Given the description of an element on the screen output the (x, y) to click on. 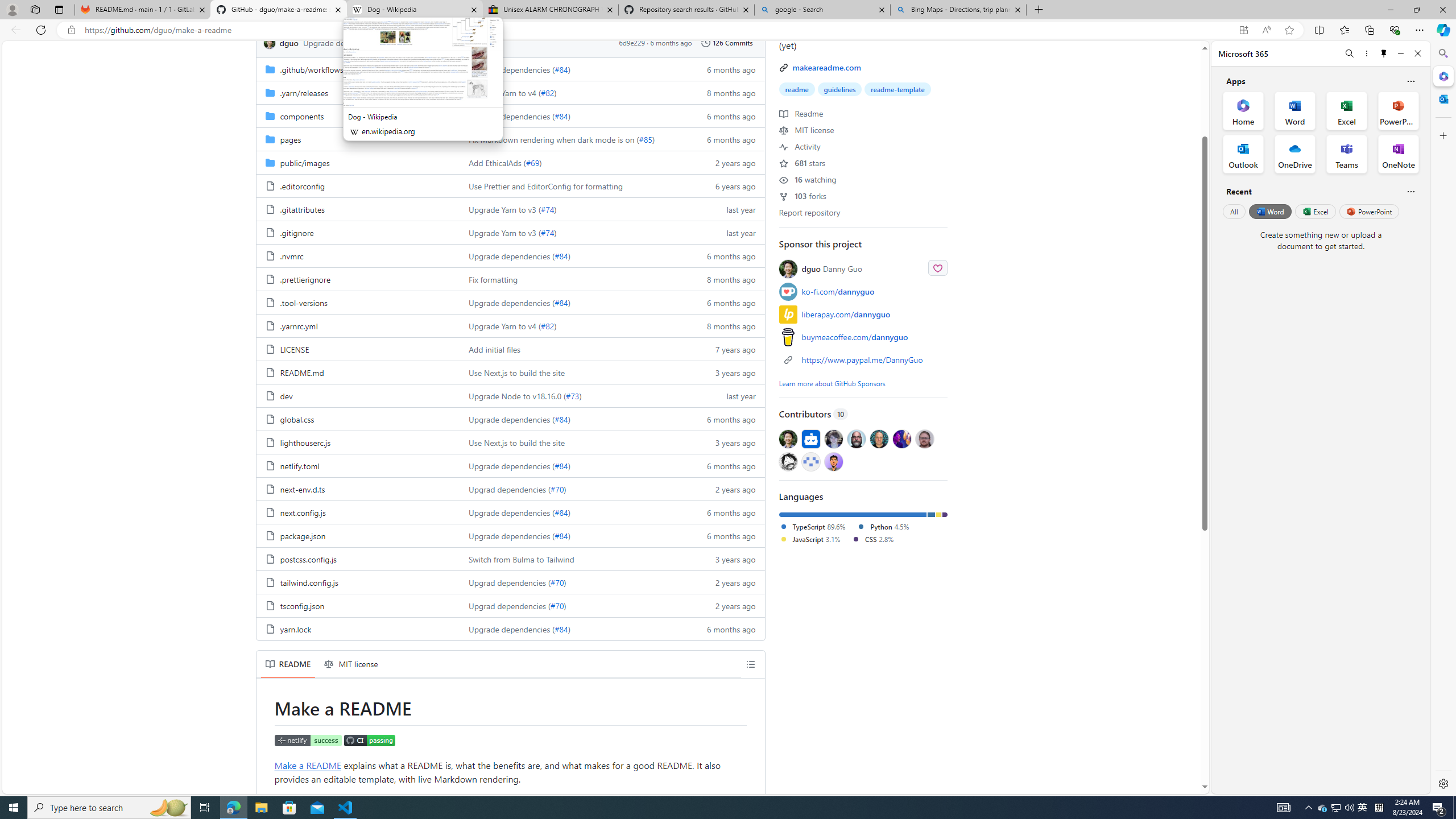
.github/workflows, (Directory) (311, 69)
Outline (750, 664)
@coderberry (856, 438)
Python4.5% (887, 526)
@dguo (787, 438)
LICENSE, (File) (293, 348)
README (287, 664)
Upgrade Yarn to v3 ( (504, 232)
TypeScript89.6% (817, 526)
#70 (557, 605)
Fix Markdown rendering when dark mode is on ( (553, 138)
AutomationID: folder-row-19 (510, 512)
Personal Profile (12, 9)
JavaScript3.1% (814, 539)
Unpin side pane (1383, 53)
